Given the description of an element on the screen output the (x, y) to click on. 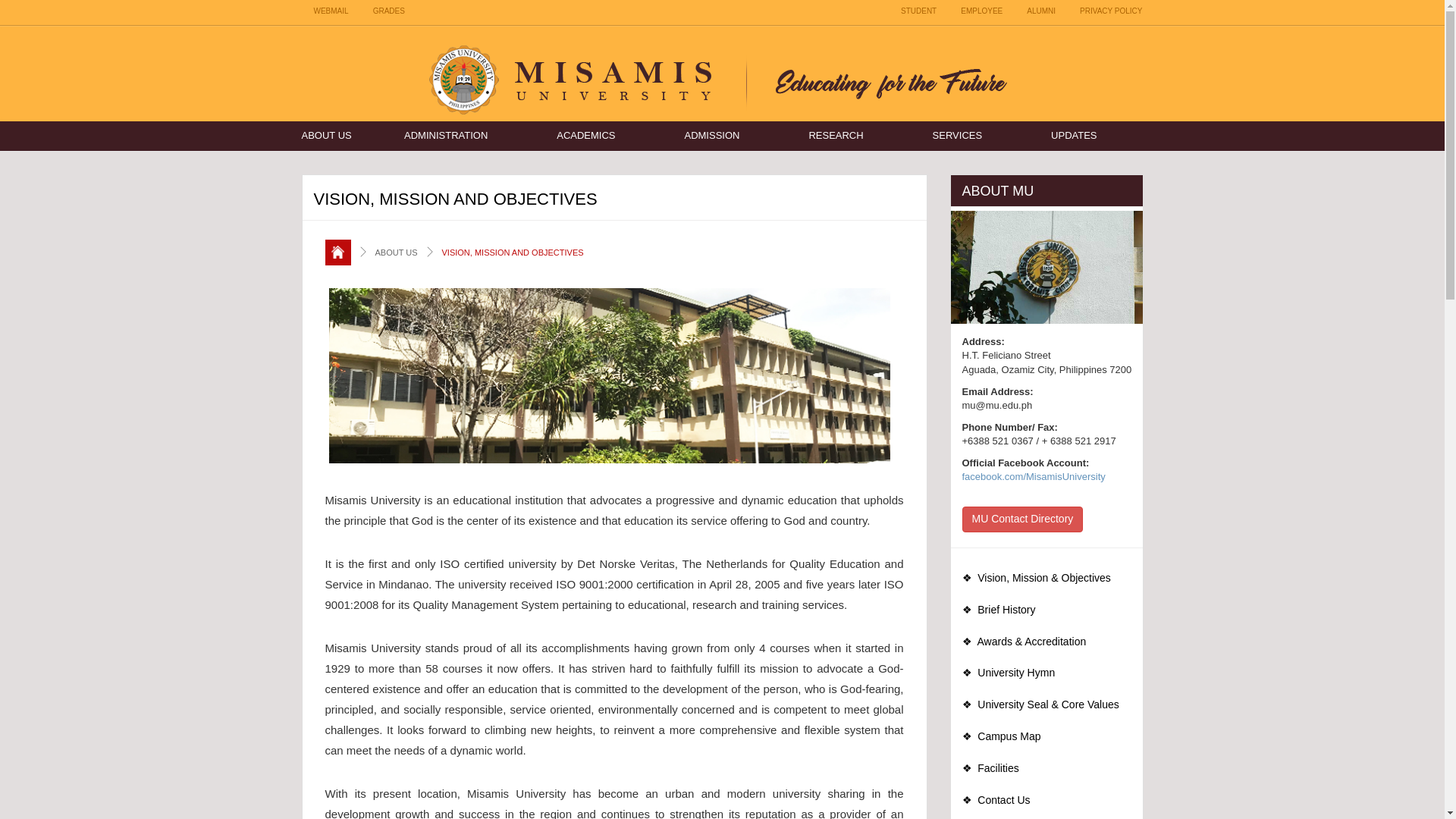
WEBMAIL (331, 13)
ABOUT US (341, 135)
ACADEMICS (608, 135)
PRIVACY POLICY (1110, 13)
ADMINISTRATION (468, 135)
GRADES (388, 13)
EMPLOYEE (981, 13)
ADMISSION (734, 135)
ALUMNI (1040, 13)
STUDENT (918, 13)
